Given the description of an element on the screen output the (x, y) to click on. 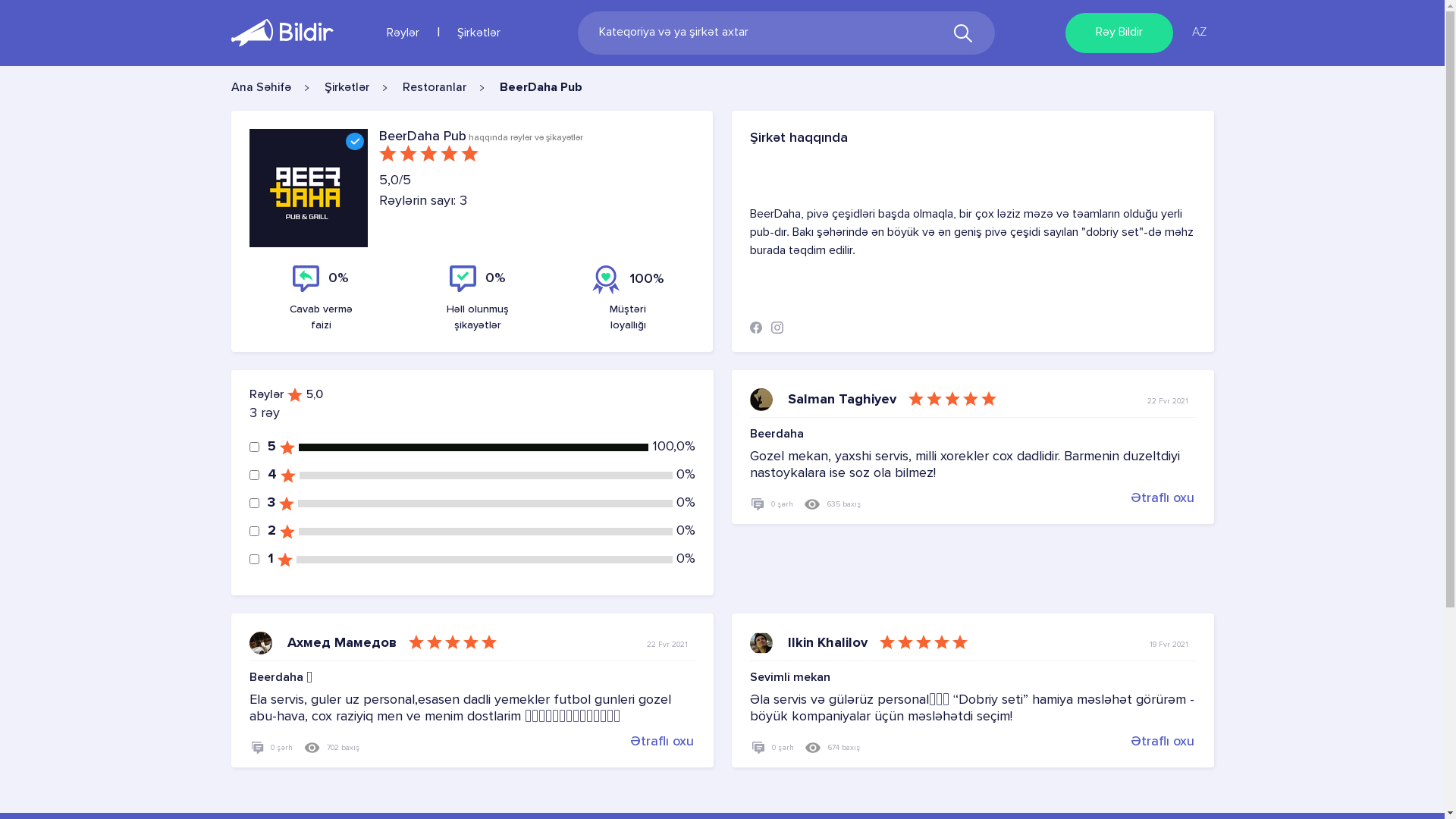
Restoranlar Element type: text (433, 87)
AZ Element type: text (1199, 32)
